Given the description of an element on the screen output the (x, y) to click on. 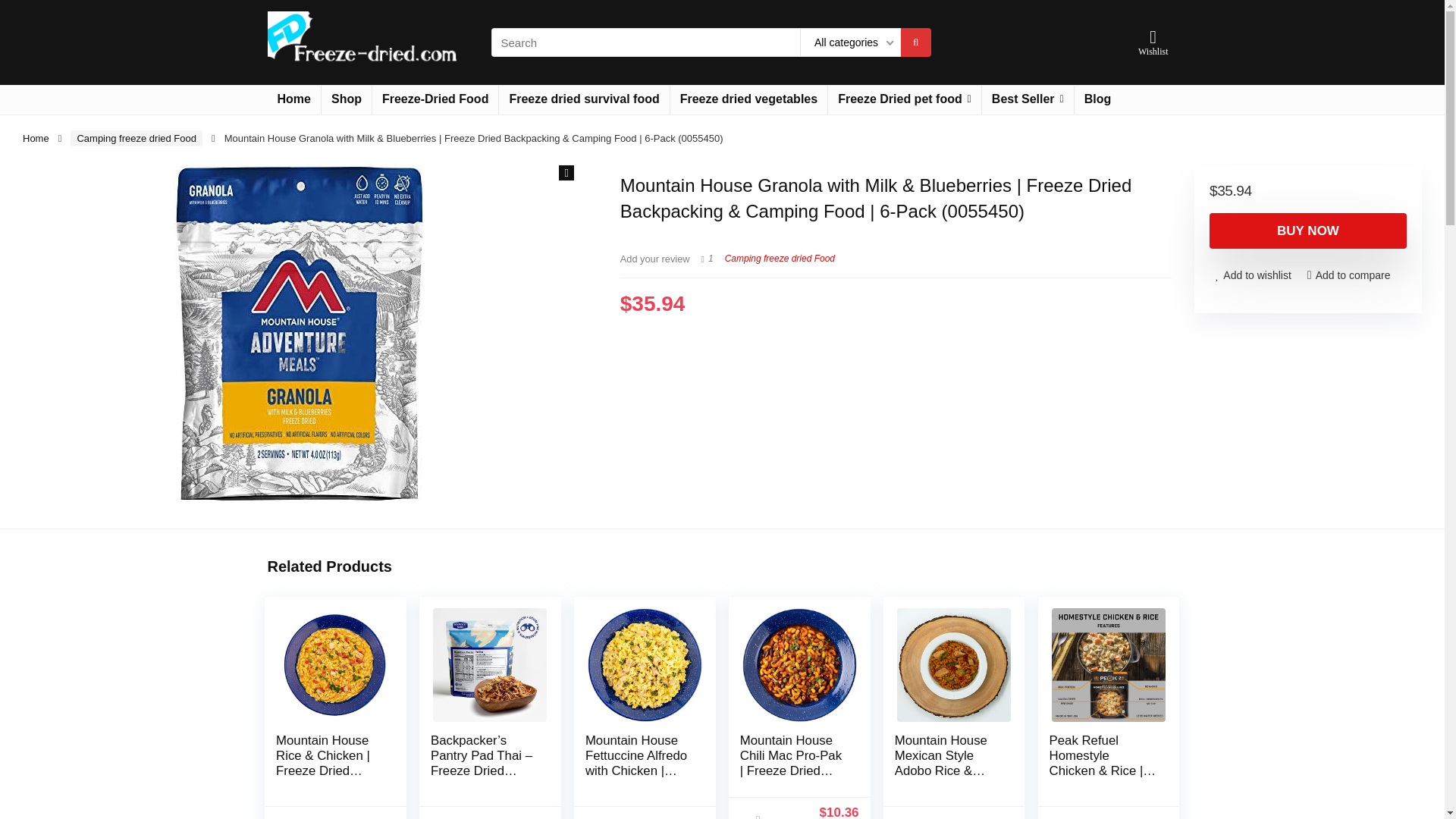
Home (293, 99)
Blog (1097, 99)
BUY NOW (1307, 230)
Camping freeze dried Food (135, 138)
Add your review (655, 258)
Freeze-Dried Food (434, 99)
View all posts in Camping freeze dried Food (779, 258)
Home (36, 138)
Freeze dried vegetables (748, 99)
Camping freeze dried Food (779, 258)
Freeze Dried pet food (904, 99)
Freeze dried survival food (583, 99)
Best Seller (1027, 99)
Shop (346, 99)
